Given the description of an element on the screen output the (x, y) to click on. 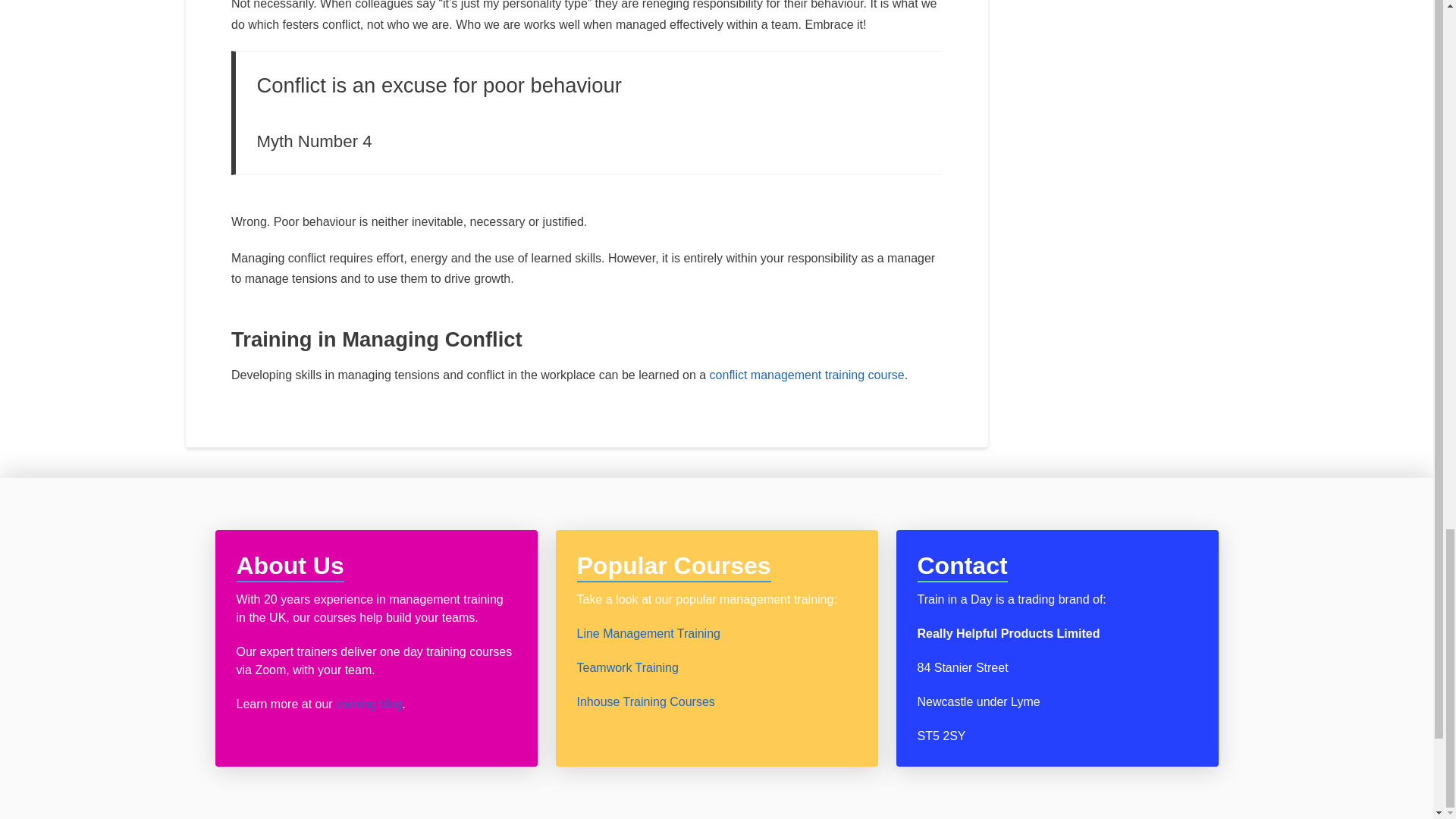
Line Management Training (647, 633)
Inhouse Training Courses (645, 701)
Teamwork Training (627, 667)
conflict management training course (807, 374)
training blog (368, 703)
